Given the description of an element on the screen output the (x, y) to click on. 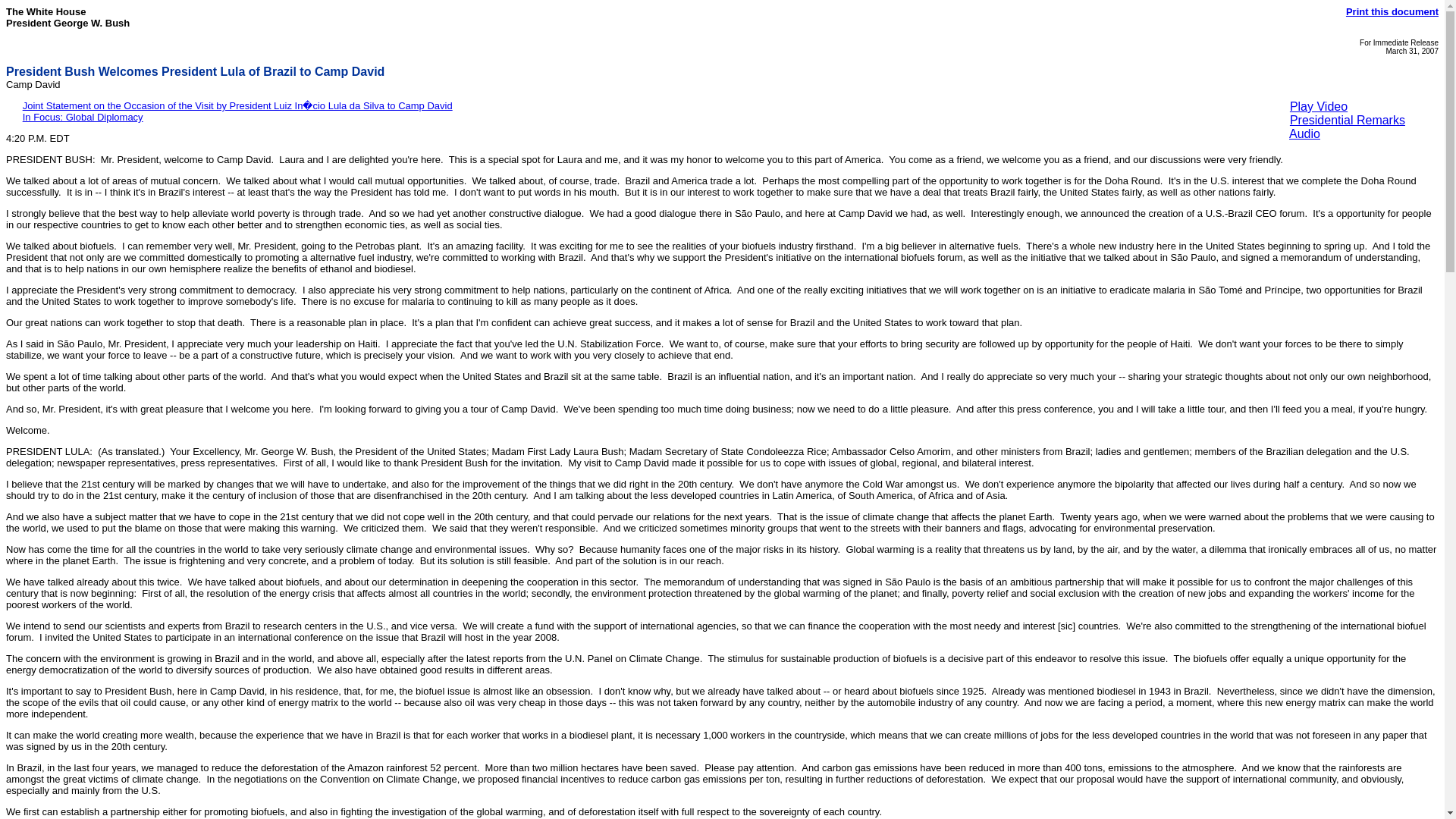
Play Video (1319, 106)
Print this document (1391, 11)
In Focus: Global Diplomacy (82, 116)
Audio (1304, 133)
Presidential Remarks (1347, 119)
